Given the description of an element on the screen output the (x, y) to click on. 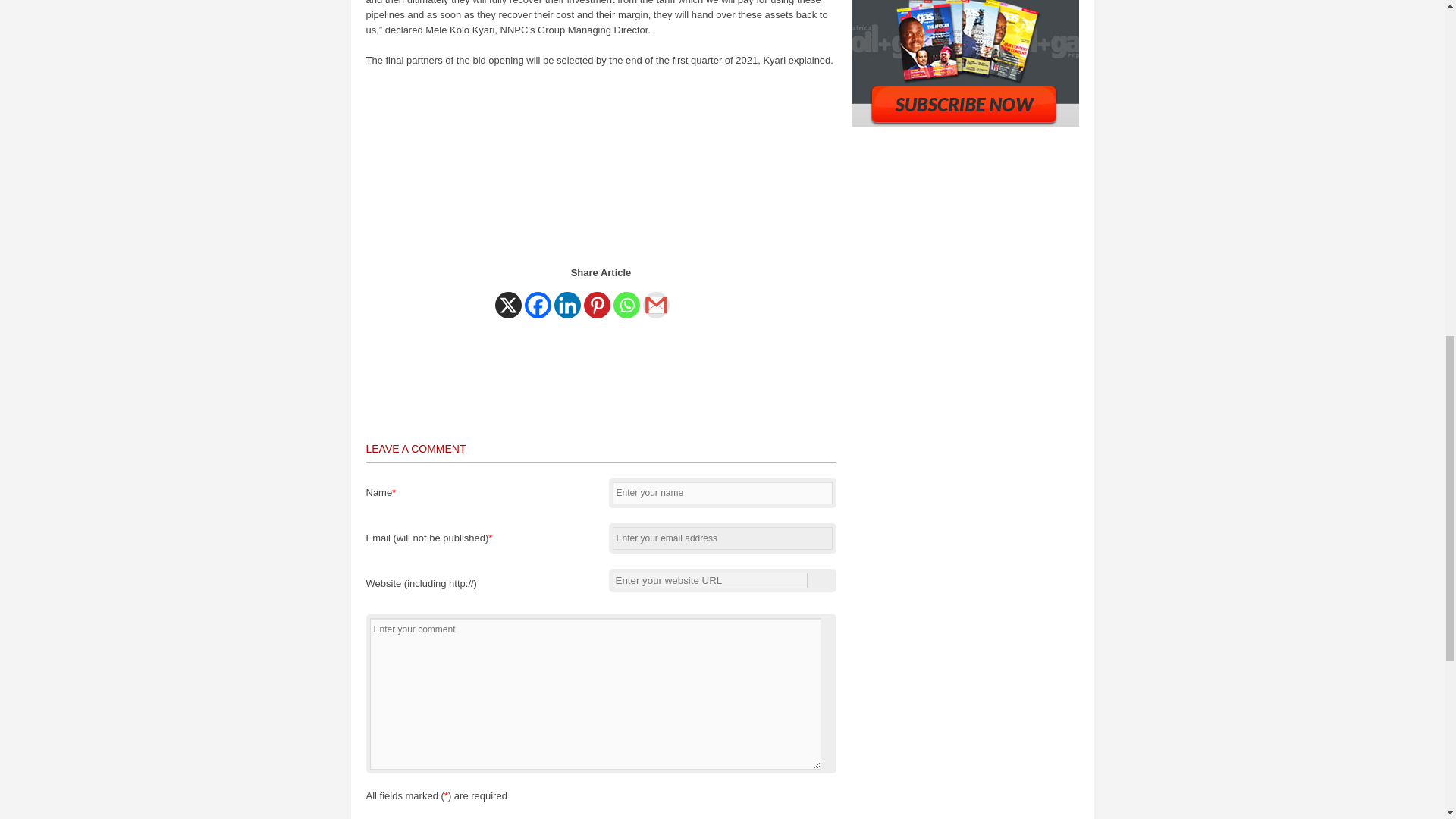
Google Gmail (656, 304)
Whatsapp (625, 304)
Facebook (537, 304)
X (508, 304)
Pinterest (596, 304)
Linkedin (566, 304)
